Given the description of an element on the screen output the (x, y) to click on. 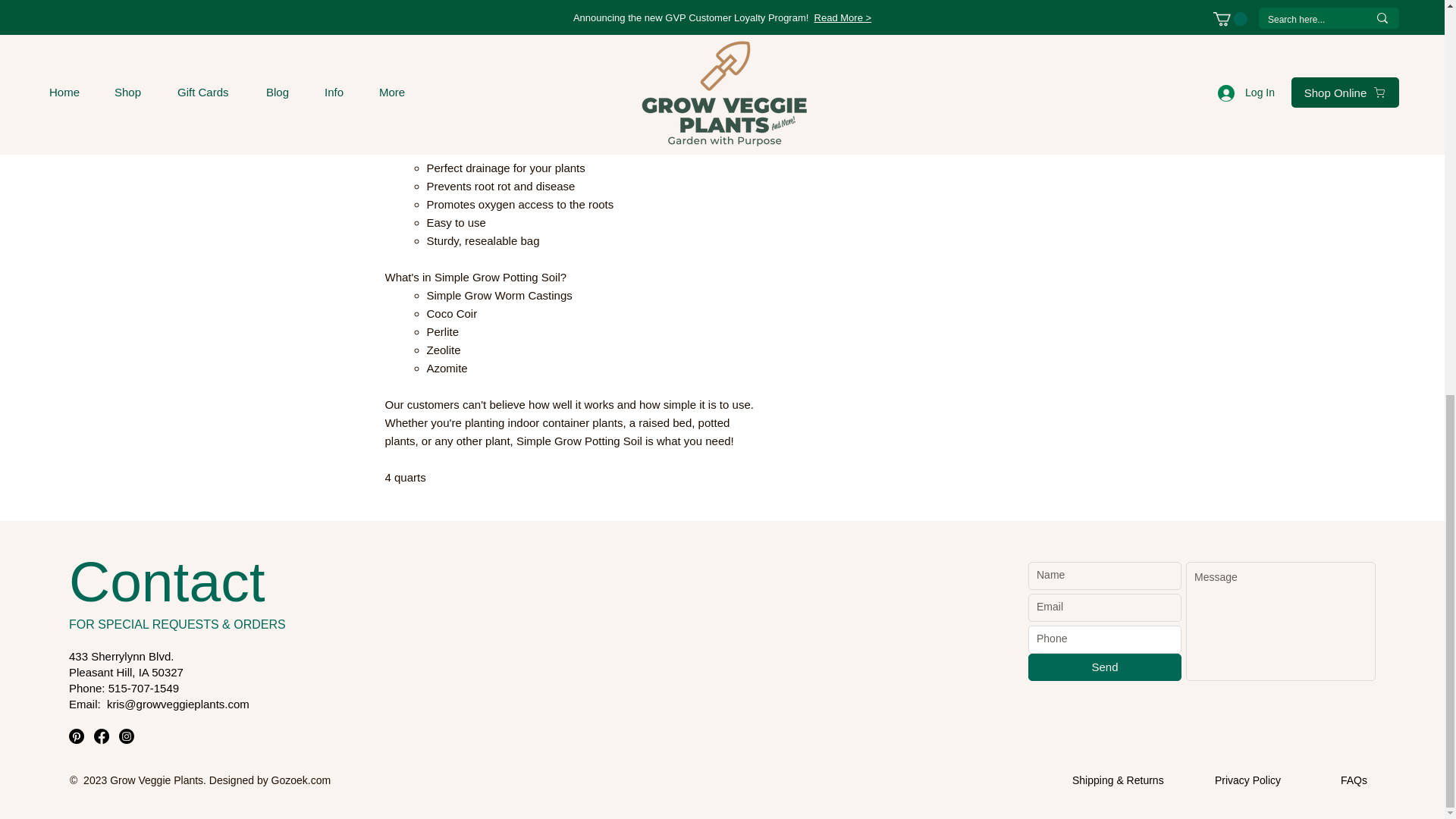
Privacy Policy (1247, 779)
Send (1103, 666)
FAQs (1353, 779)
